Given the description of an element on the screen output the (x, y) to click on. 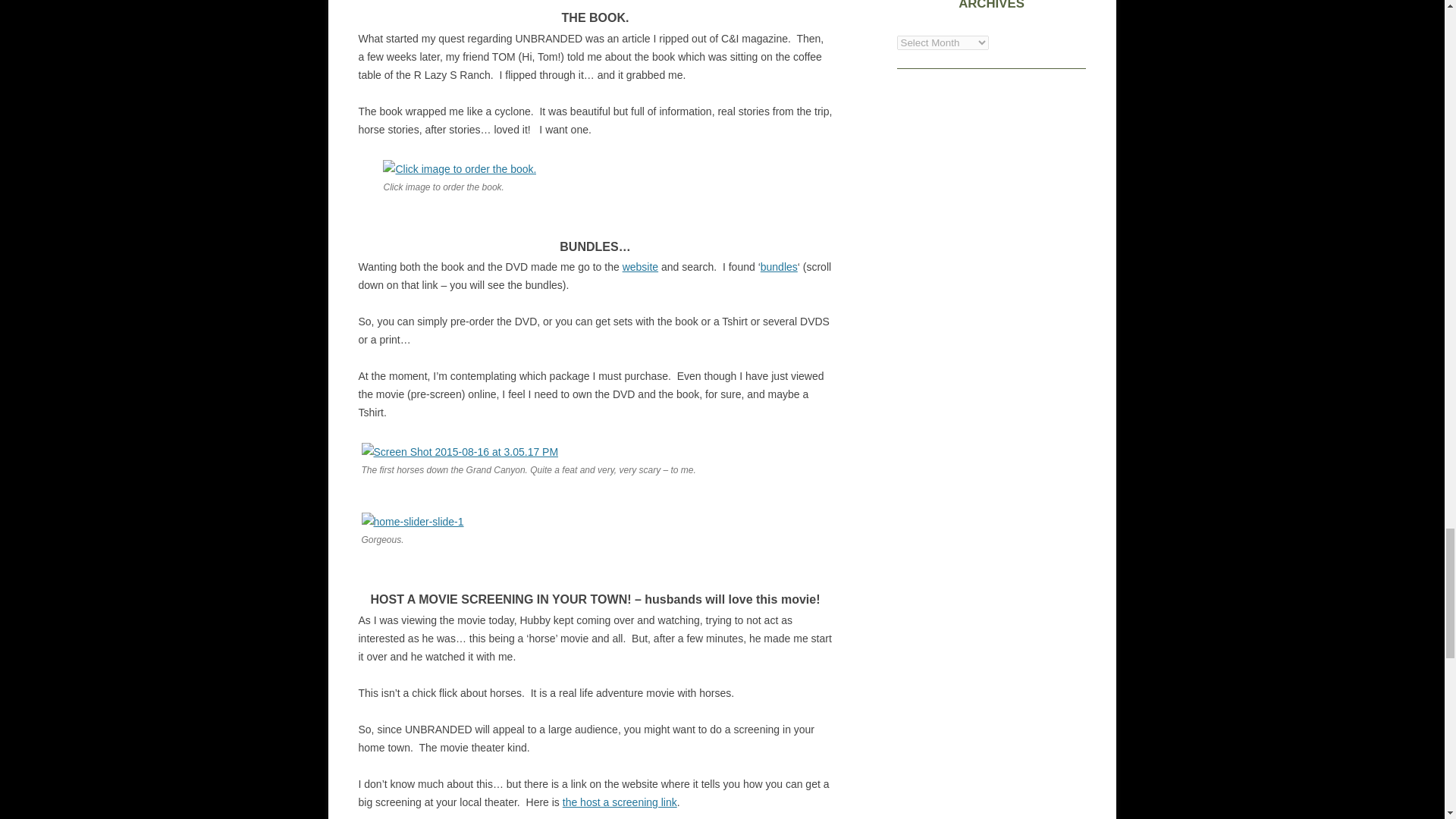
the host a screening link (619, 802)
bundles (778, 266)
website (640, 266)
